Given the description of an element on the screen output the (x, y) to click on. 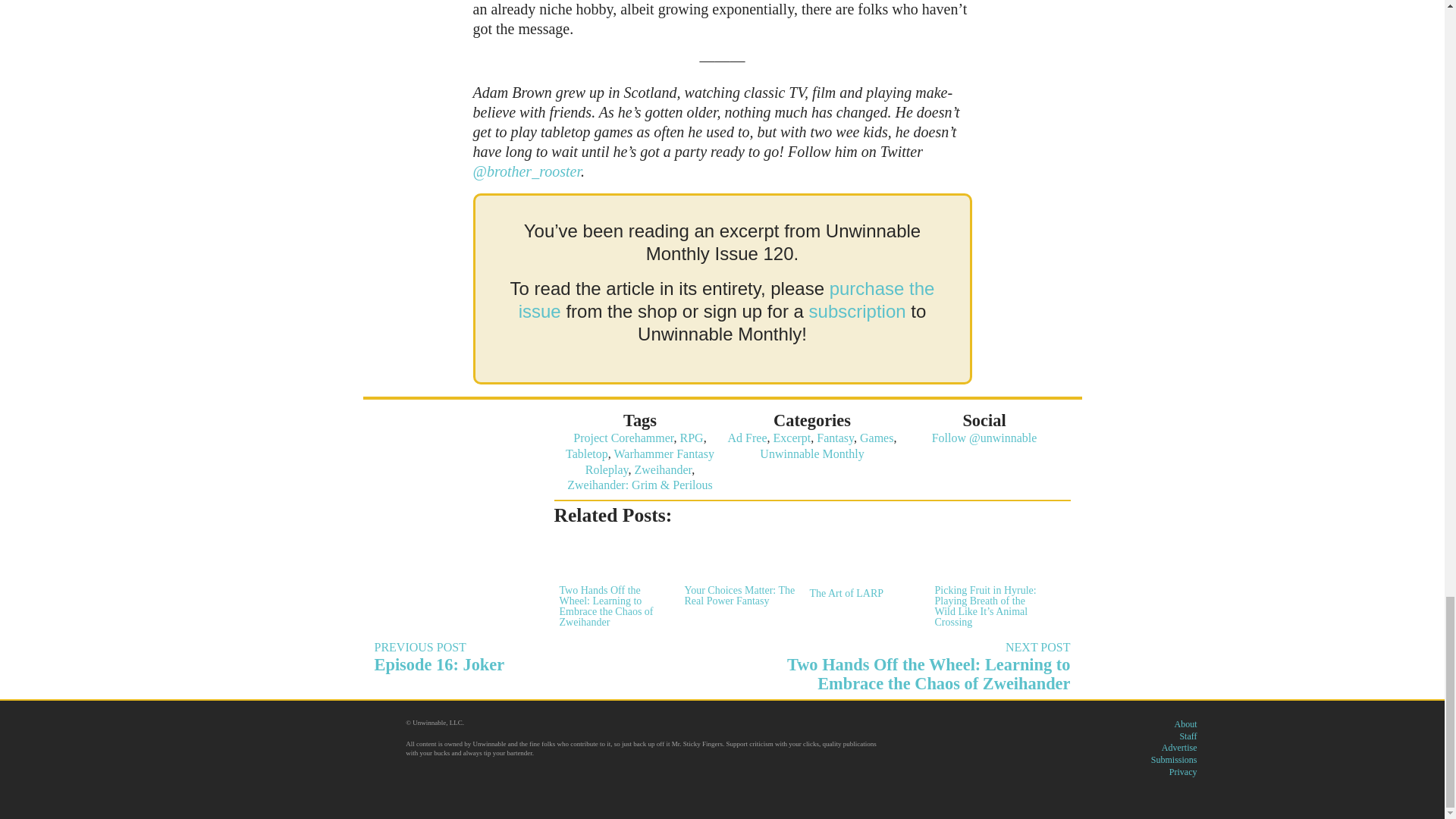
Your Choices Matter: The Real Power Fantasy (738, 570)
Tabletop (587, 453)
Your Choices Matter: The Real Power Fantasy (738, 570)
Warhammer Fantasy Roleplay (649, 461)
RPG (691, 437)
Fantasy (834, 437)
Unwinnable Monthly (542, 656)
The Art of LARP (811, 453)
The Art of LARP (862, 566)
